Given the description of an element on the screen output the (x, y) to click on. 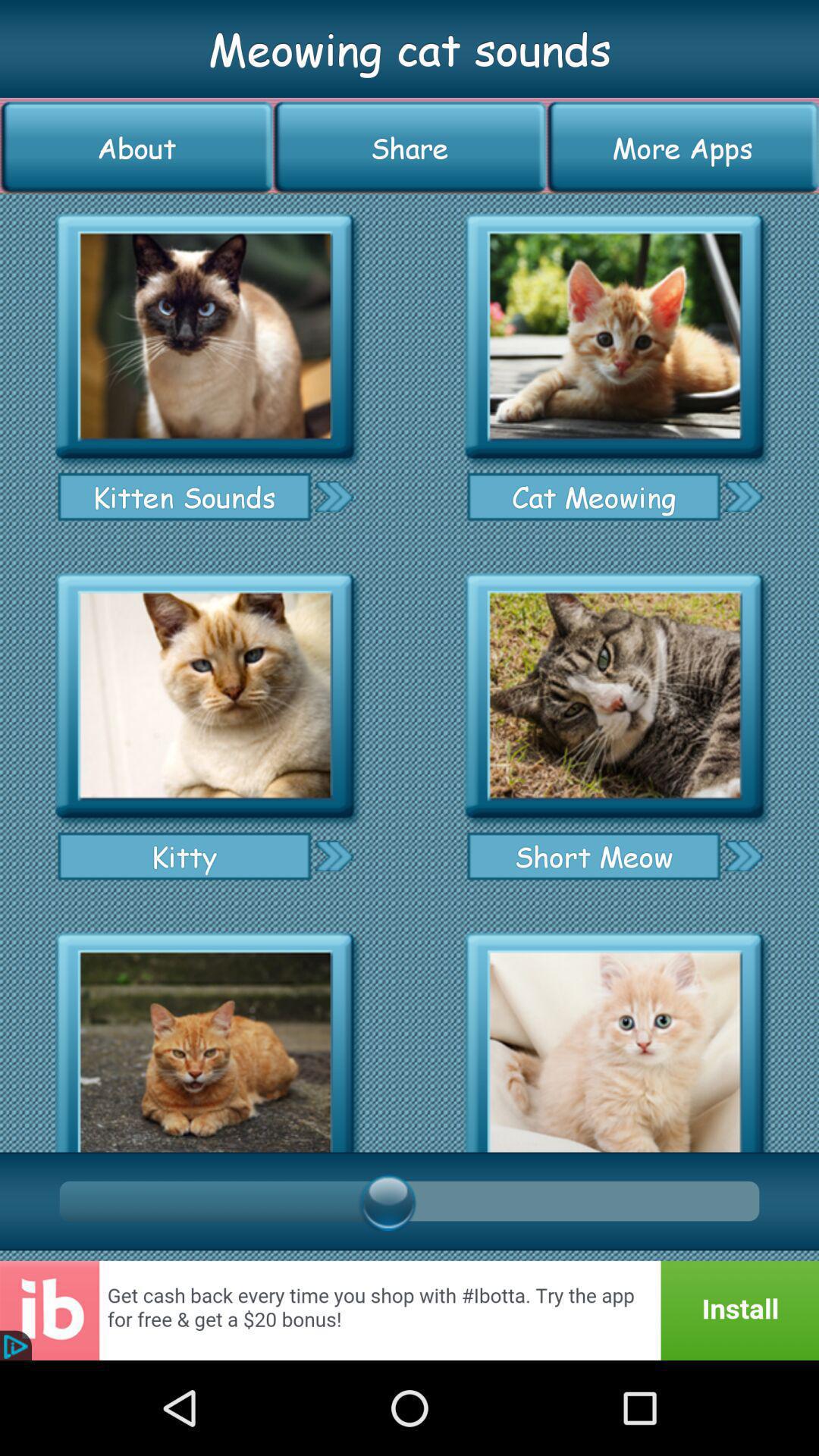
turn on the kitty button (184, 855)
